Given the description of an element on the screen output the (x, y) to click on. 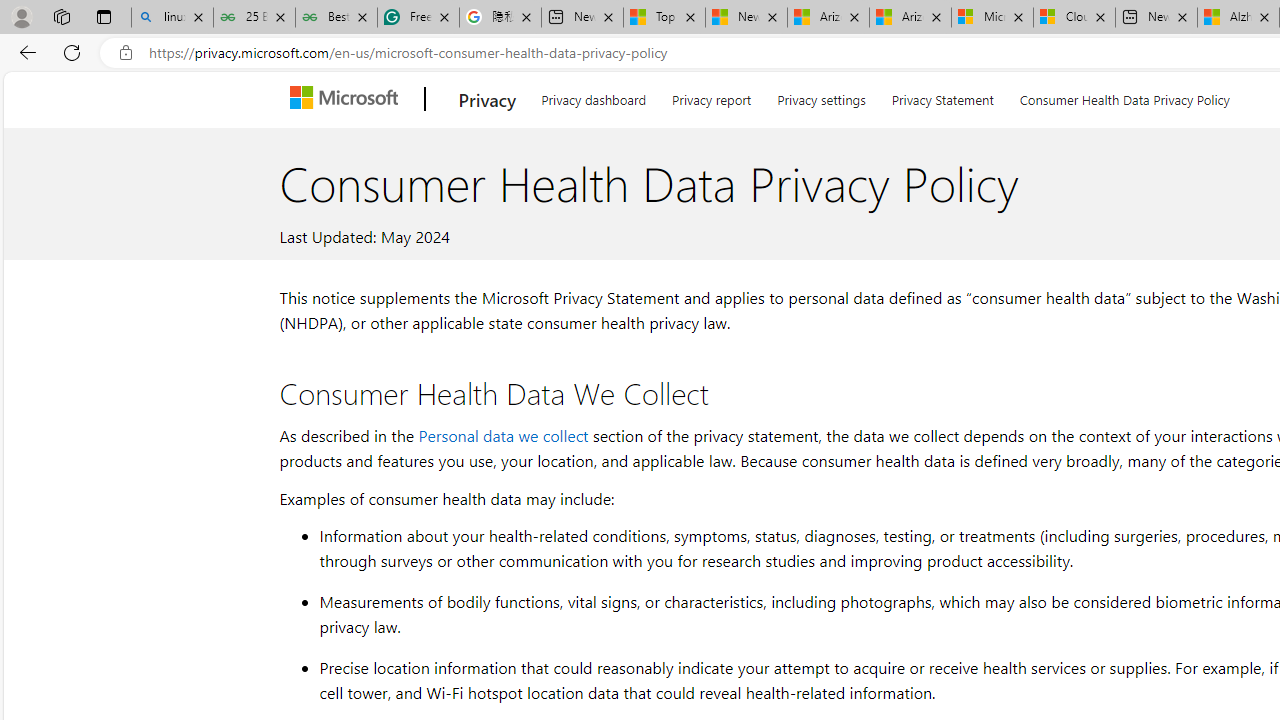
Personal data we collect (503, 434)
